Given the description of an element on the screen output the (x, y) to click on. 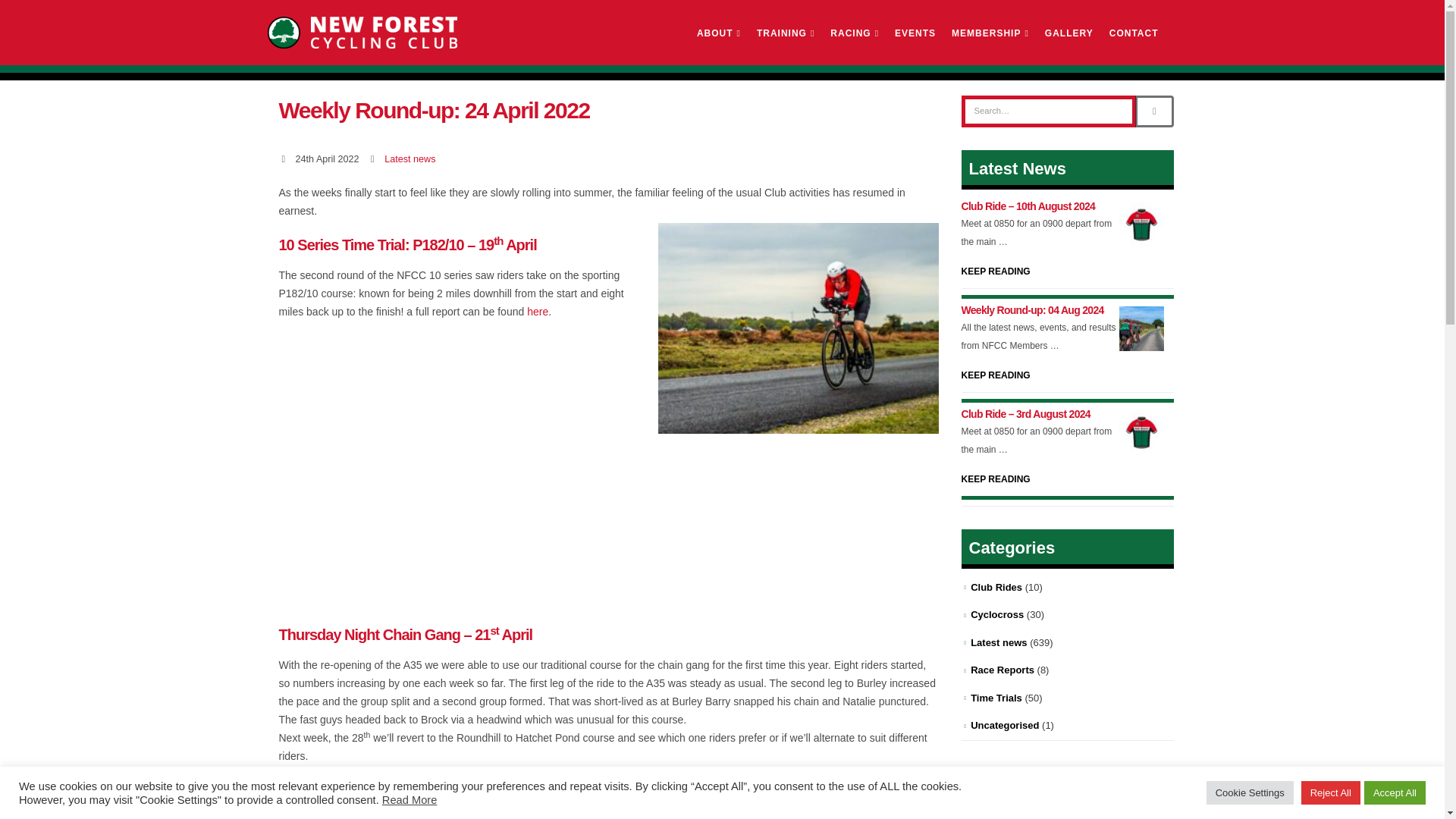
TRAINING (785, 33)
ABOUT (718, 33)
CONTACT (1134, 33)
EVENTS (914, 33)
GALLERY (1068, 33)
RACING (854, 33)
MEMBERSHIP (989, 33)
New Forest Cycling Club - Over 85 years of cycling pedigree (361, 32)
